Given the description of an element on the screen output the (x, y) to click on. 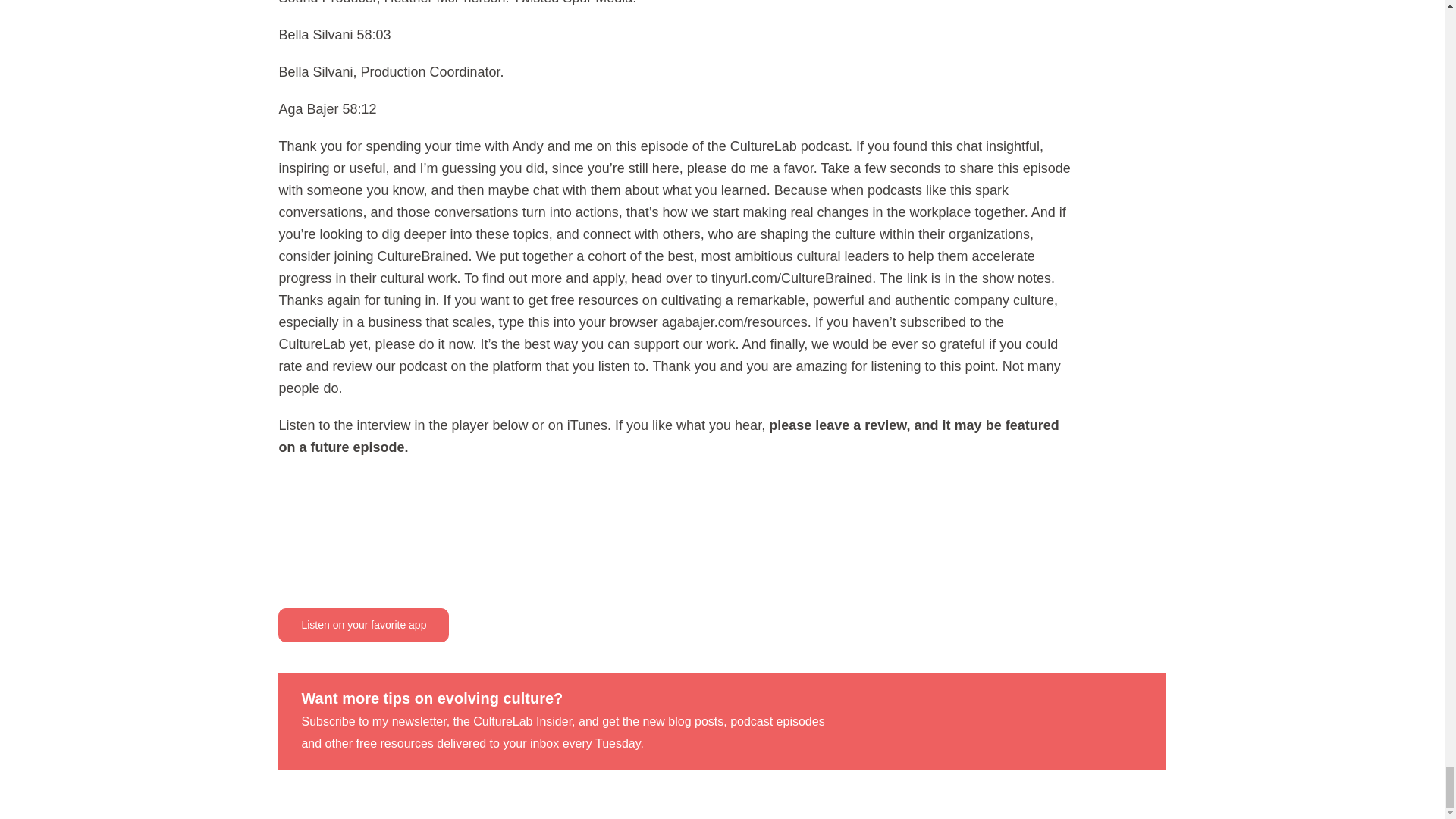
Embed Player (675, 537)
Listen on your favorite app (363, 625)
